Given the description of an element on the screen output the (x, y) to click on. 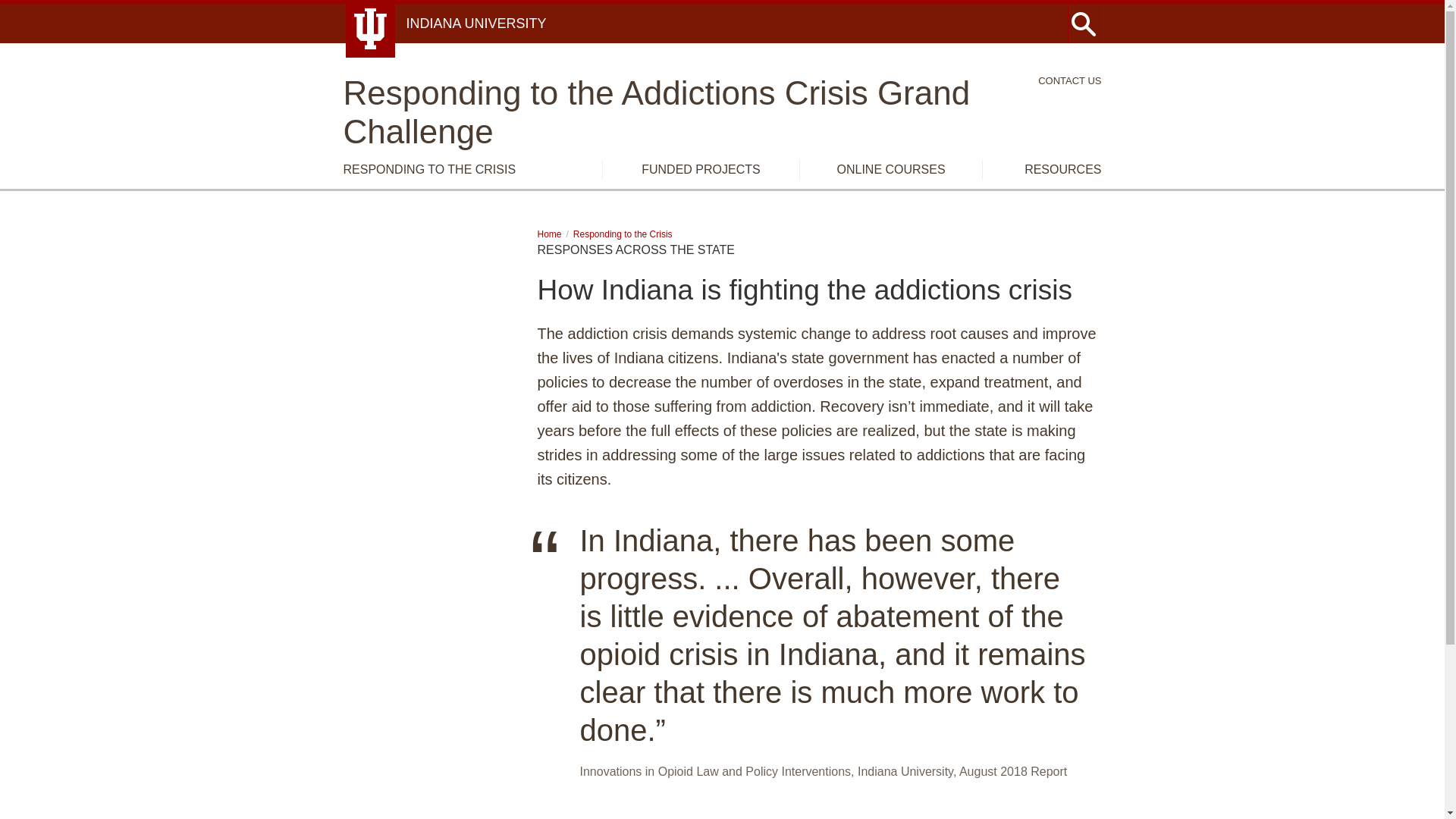
RESPONDING TO THE CRISIS (428, 169)
Home (548, 234)
ONLINE COURSES (889, 169)
CONTACT US (1069, 80)
Responding to the Crisis (622, 234)
FUNDED PROJECTS (701, 169)
Indiana University (476, 23)
INDIANA UNIVERSITY (476, 23)
Responding to the Addictions Crisis Grand Challenge (721, 112)
RESOURCES (1062, 169)
